Given the description of an element on the screen output the (x, y) to click on. 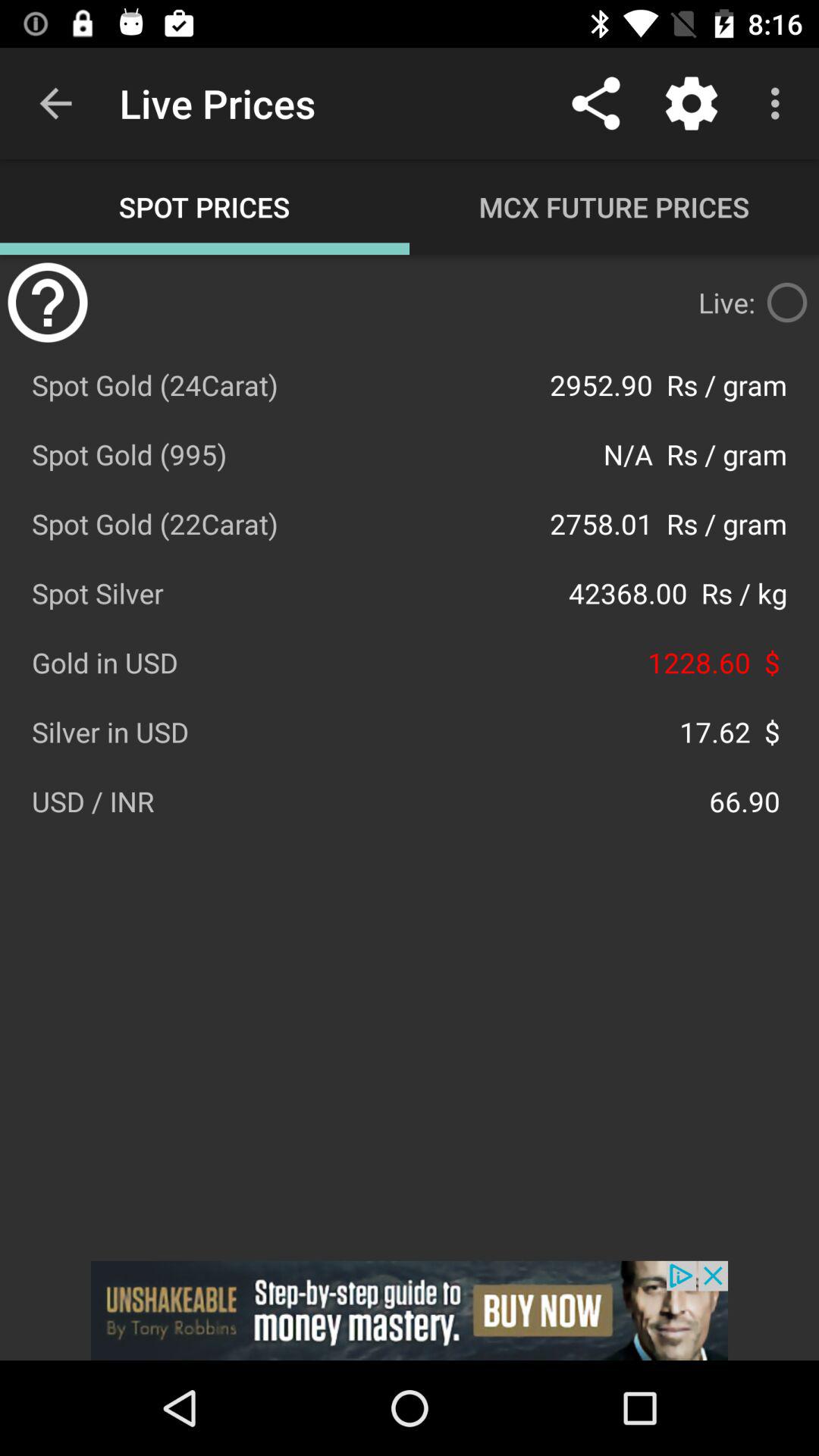
advertisement bar (409, 1310)
